Given the description of an element on the screen output the (x, y) to click on. 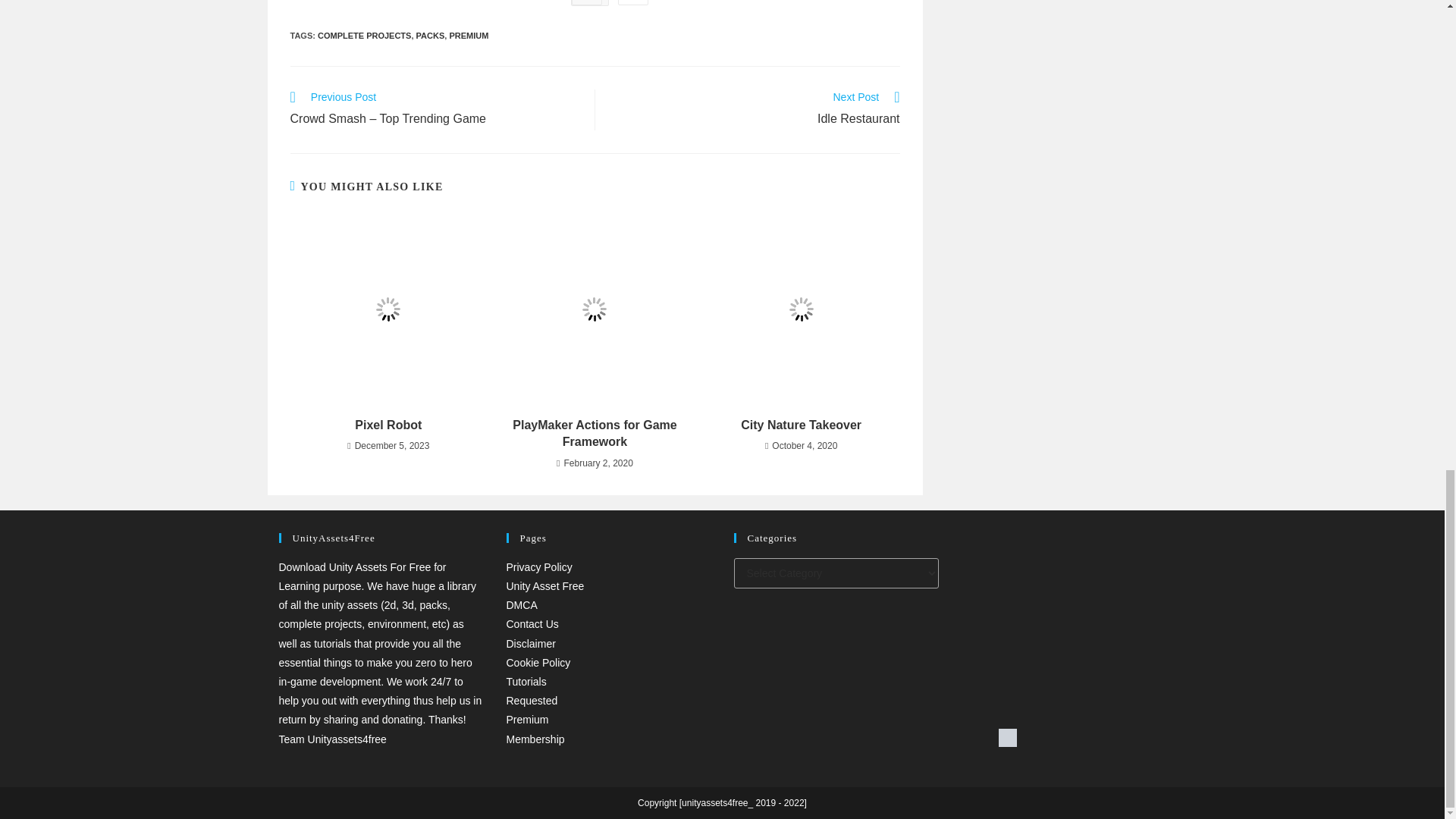
COMPLETE PROJECTS (363, 34)
PACKS (754, 109)
Pixel Robot (430, 34)
PREMIUM (387, 425)
PlayMaker Actions for Game Framework (467, 34)
City Nature Takeover (594, 433)
